Given the description of an element on the screen output the (x, y) to click on. 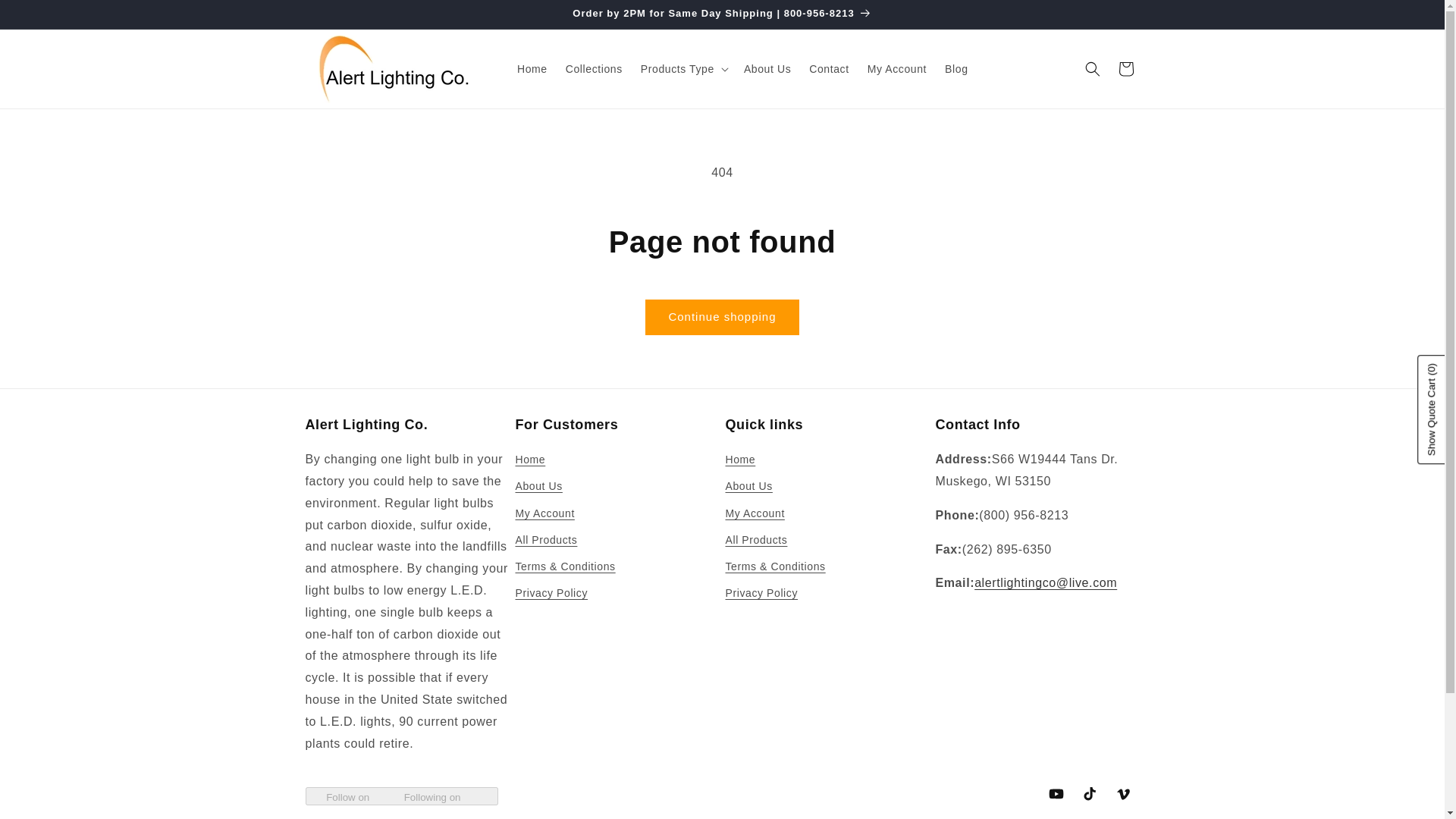
Home (532, 69)
Collections (593, 69)
About Us (767, 69)
Contact (828, 69)
My Account (897, 69)
Skip to content (45, 17)
